Given the description of an element on the screen output the (x, y) to click on. 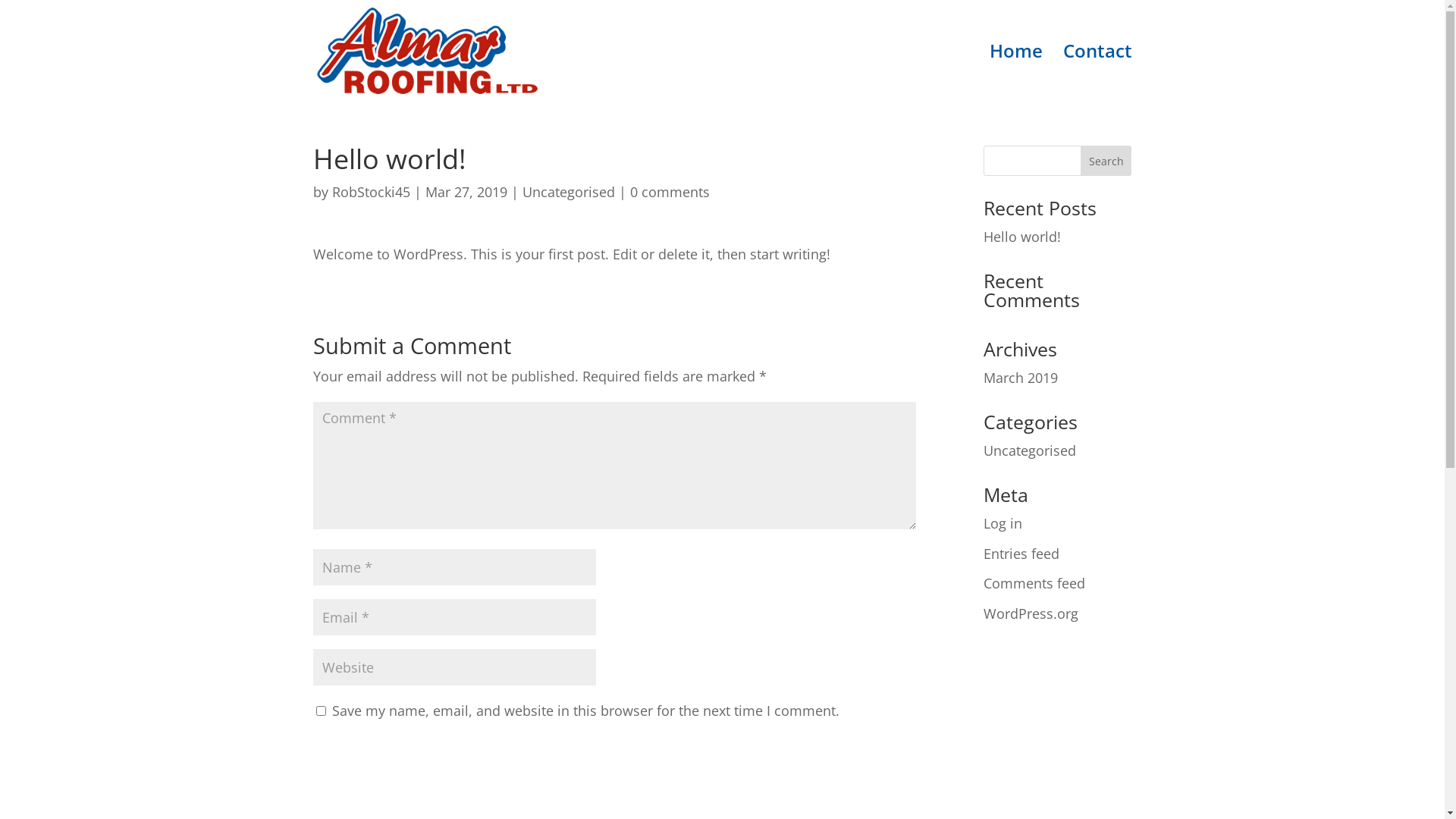
Submit Comment Element type: text (837, 755)
WordPress.org Element type: text (1030, 613)
RobStocki45 Element type: text (371, 191)
Uncategorised Element type: text (1029, 450)
Contact Element type: text (1097, 73)
0 comments Element type: text (669, 191)
Uncategorised Element type: text (567, 191)
Comments feed Element type: text (1034, 583)
Hello world! Element type: text (1021, 236)
Log in Element type: text (1002, 523)
Search Element type: text (1106, 160)
March 2019 Element type: text (1020, 377)
Entries feed Element type: text (1021, 553)
Home Element type: text (1014, 73)
